Given the description of an element on the screen output the (x, y) to click on. 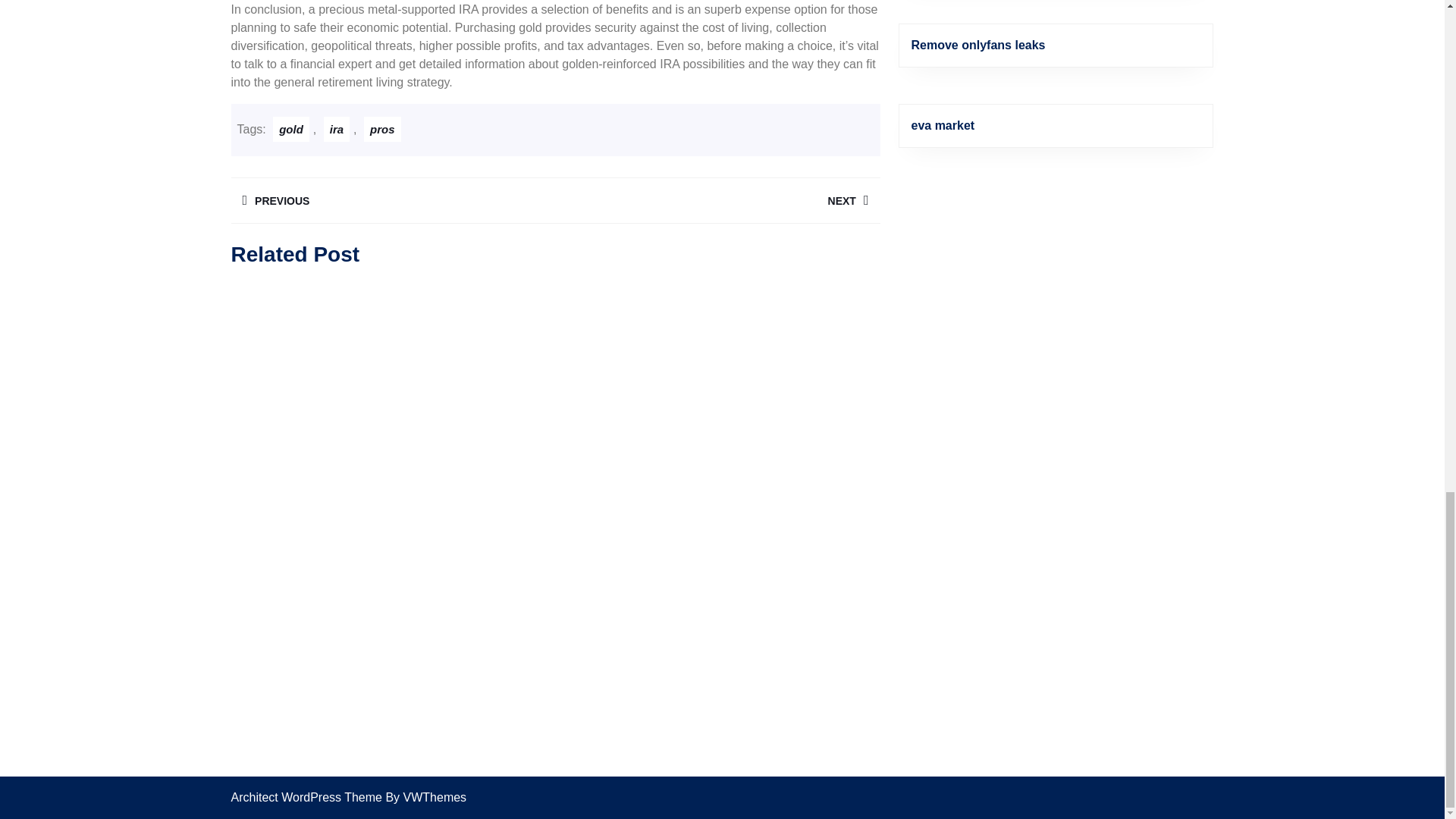
ira (392, 200)
pros (336, 129)
gold (716, 200)
